Given the description of an element on the screen output the (x, y) to click on. 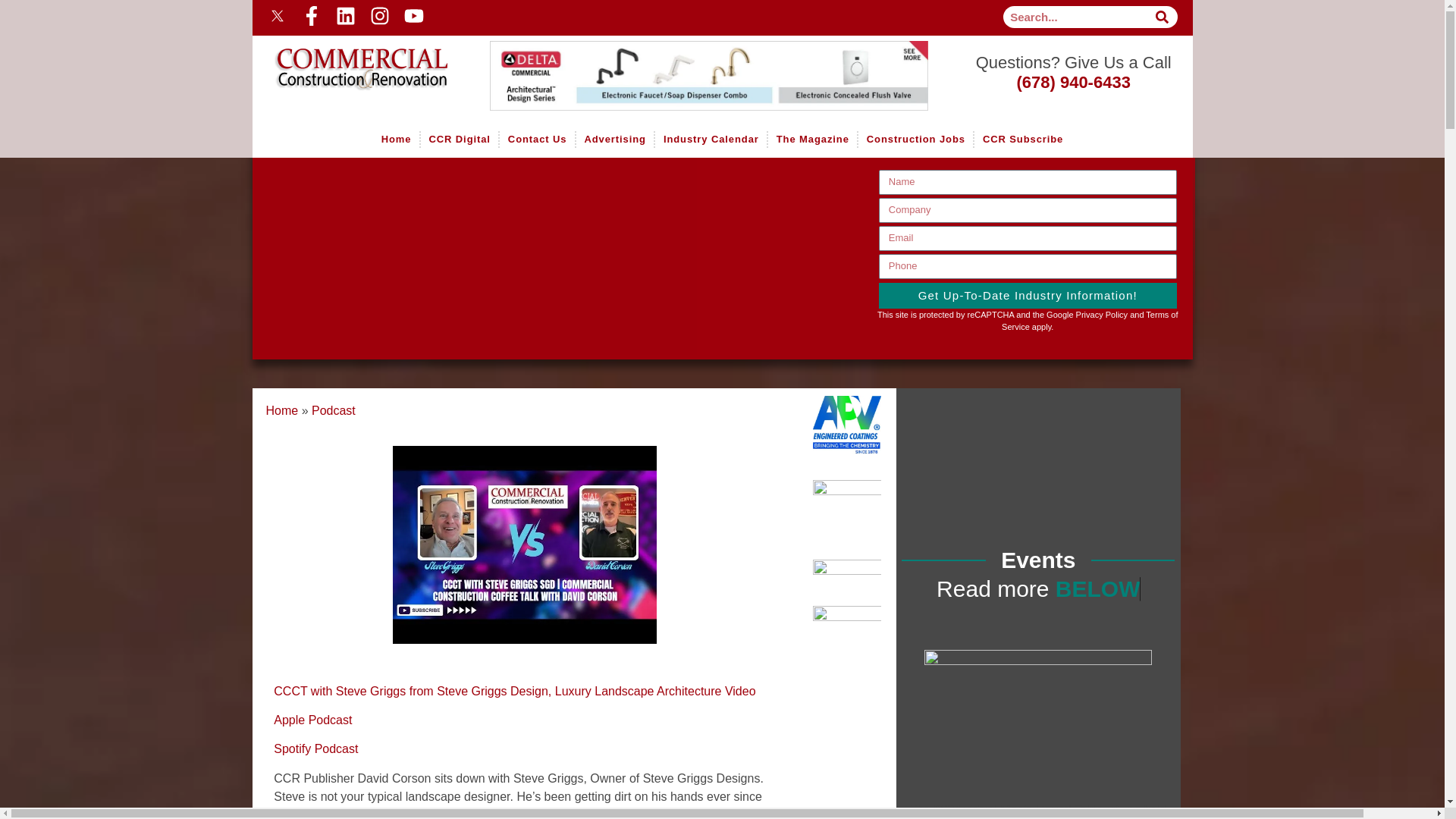
Industry Calendar (710, 138)
Advertising (614, 138)
Contact Us (537, 138)
Social Media (486, 15)
Sponsors (718, 76)
Home (350, 58)
CCR Digital (459, 138)
